Given the description of an element on the screen output the (x, y) to click on. 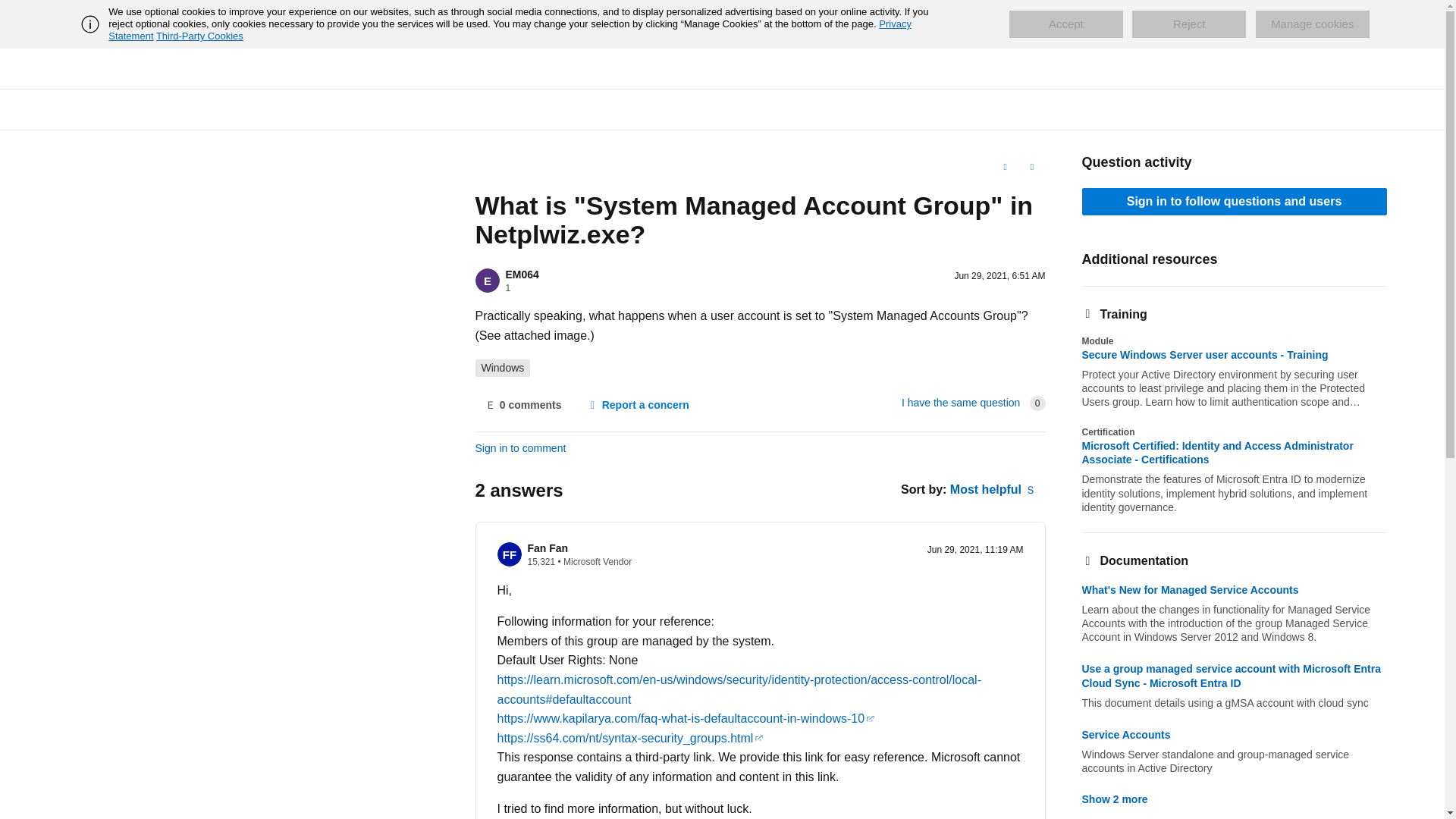
Accept (1065, 23)
Reject (1189, 23)
I have the same question (960, 402)
Fan Fan (548, 548)
Share this question (1031, 166)
Report a concern (637, 405)
Manage cookies (1312, 23)
No comments (522, 405)
Privacy Statement (509, 29)
Third-Party Cookies (199, 35)
Report a concern (637, 405)
Reputation points (541, 561)
You have the same or similar question (960, 402)
Skip to main content (11, 11)
EM064 (521, 274)
